Given the description of an element on the screen output the (x, y) to click on. 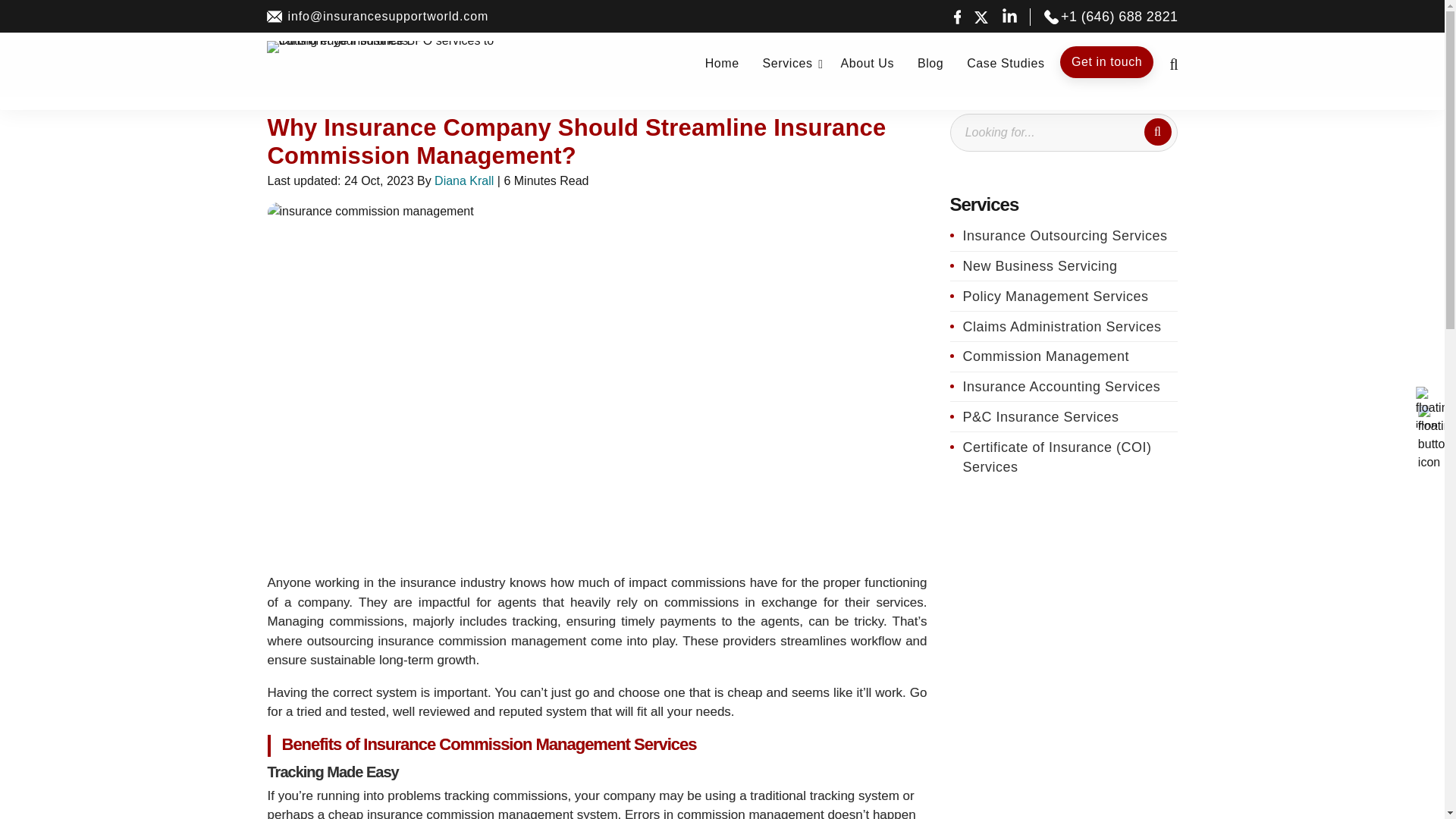
Case Studies (1005, 63)
Diana Krall (463, 180)
About Us (866, 63)
New Business Servicing (1062, 266)
Home (721, 63)
Blog (931, 63)
Get in touch (1106, 61)
Posts by Diana Krall (463, 180)
Insurance Outsourcing Services (1062, 235)
Services (787, 63)
